Given the description of an element on the screen output the (x, y) to click on. 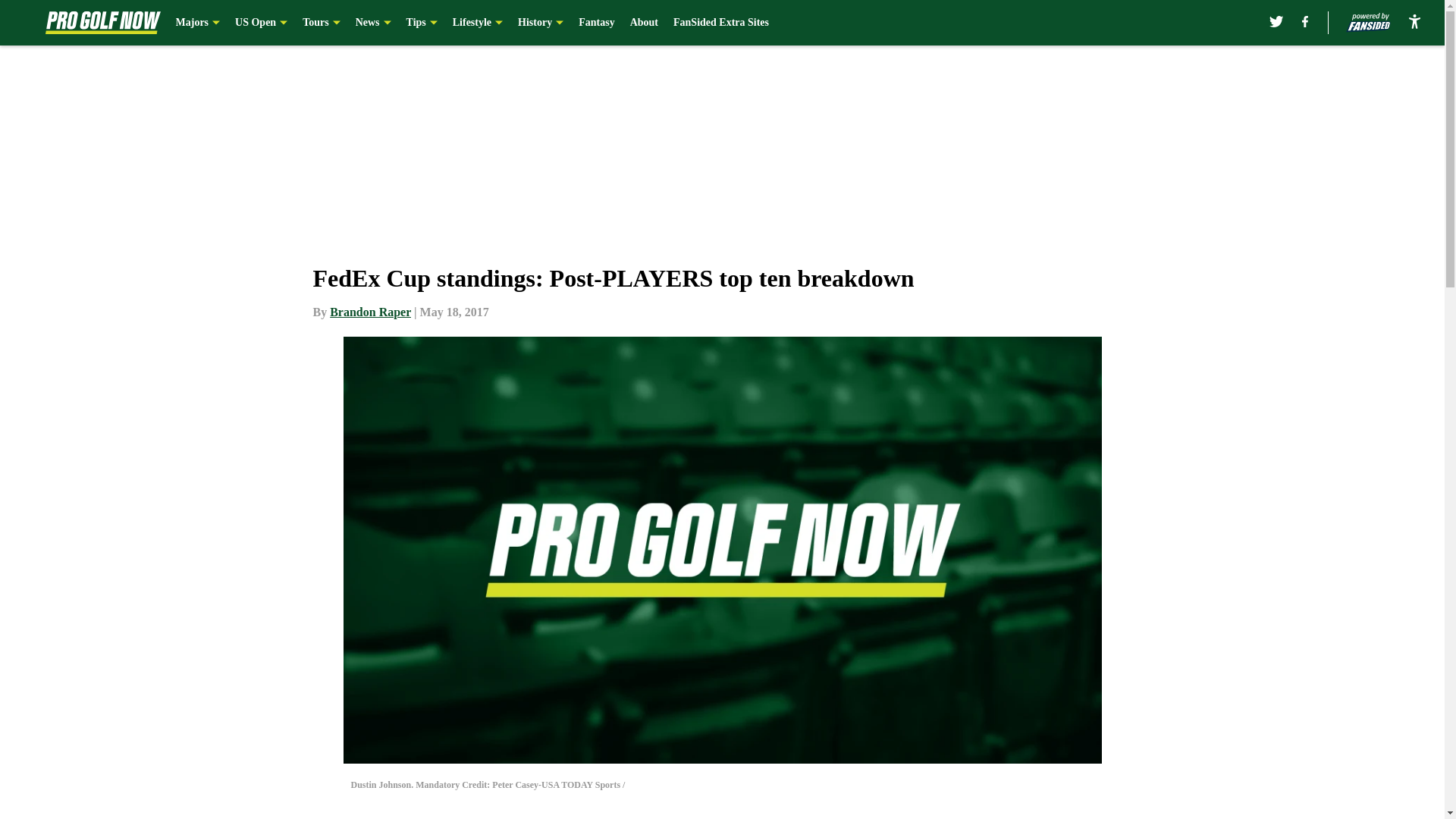
FanSided Extra Sites (720, 22)
Fantasy (596, 22)
Brandon Raper (370, 311)
About (644, 22)
